Given the description of an element on the screen output the (x, y) to click on. 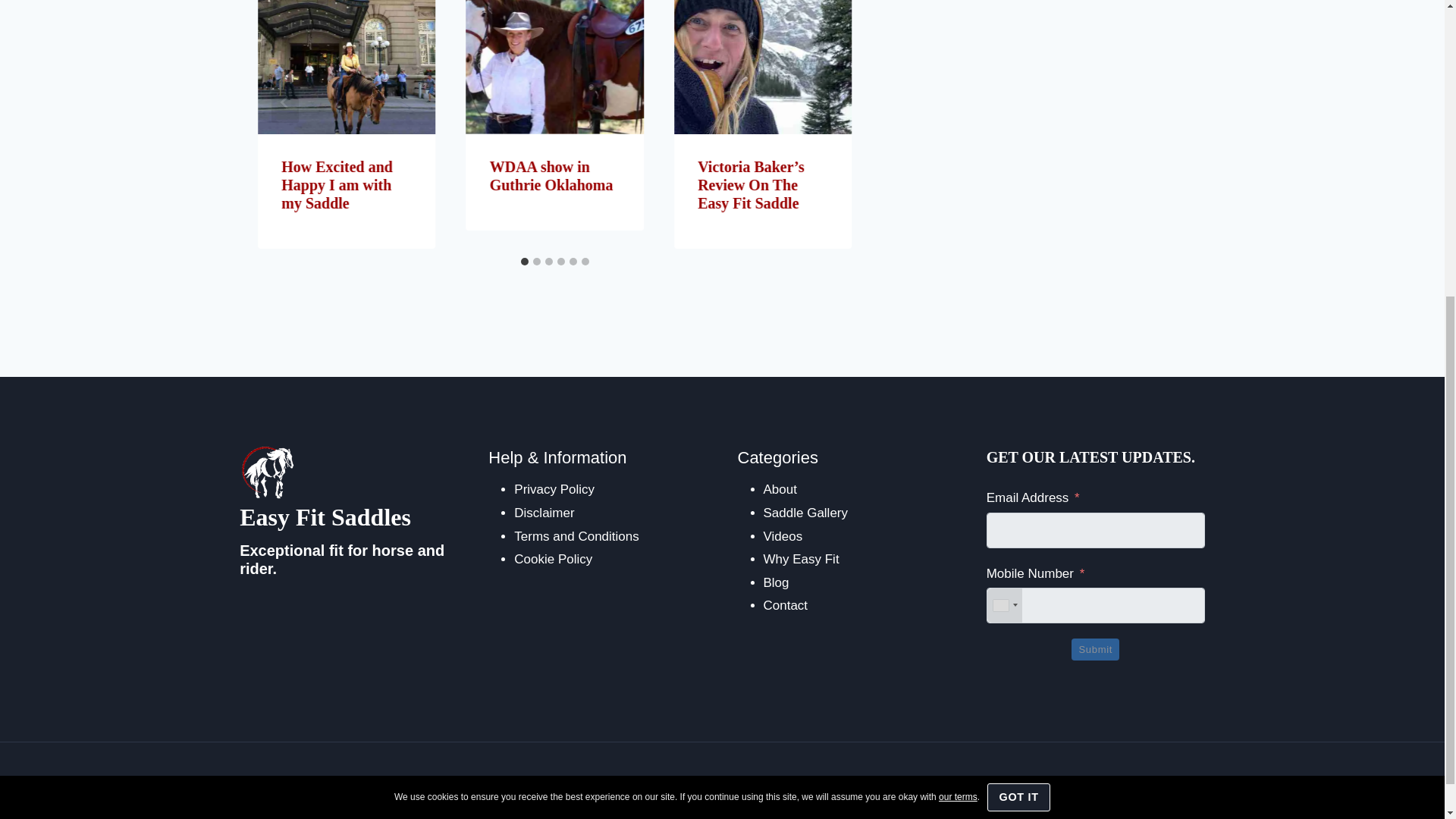
How Excited and Happy I am with my Saddle 1 (346, 66)
WDAA show in Guthrie Oklahoma 2 (554, 66)
Victoria Baker's Review On The Easy Fit Saddle 3 (762, 66)
